Given the description of an element on the screen output the (x, y) to click on. 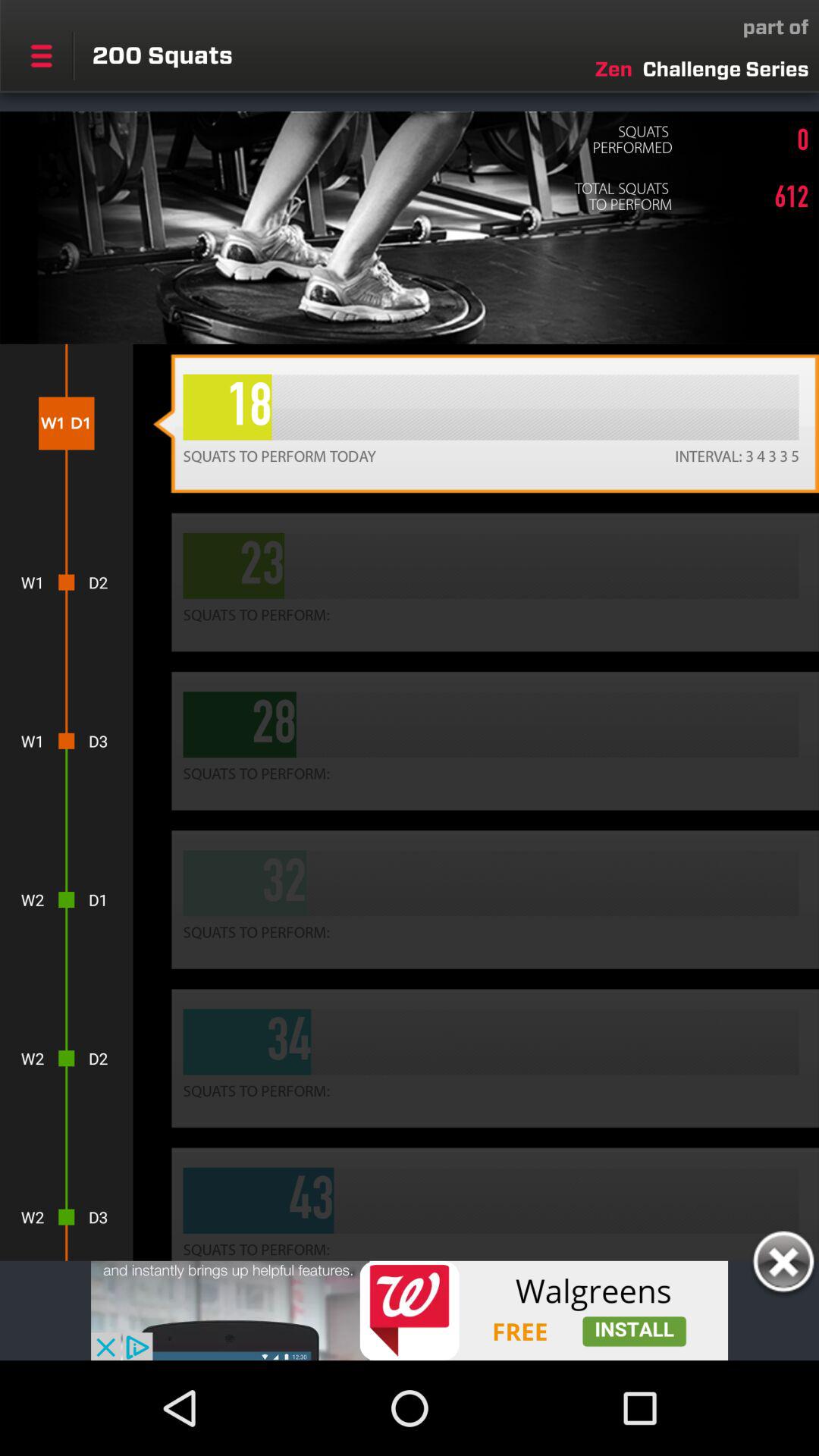
open advertisement (409, 1310)
